Given the description of an element on the screen output the (x, y) to click on. 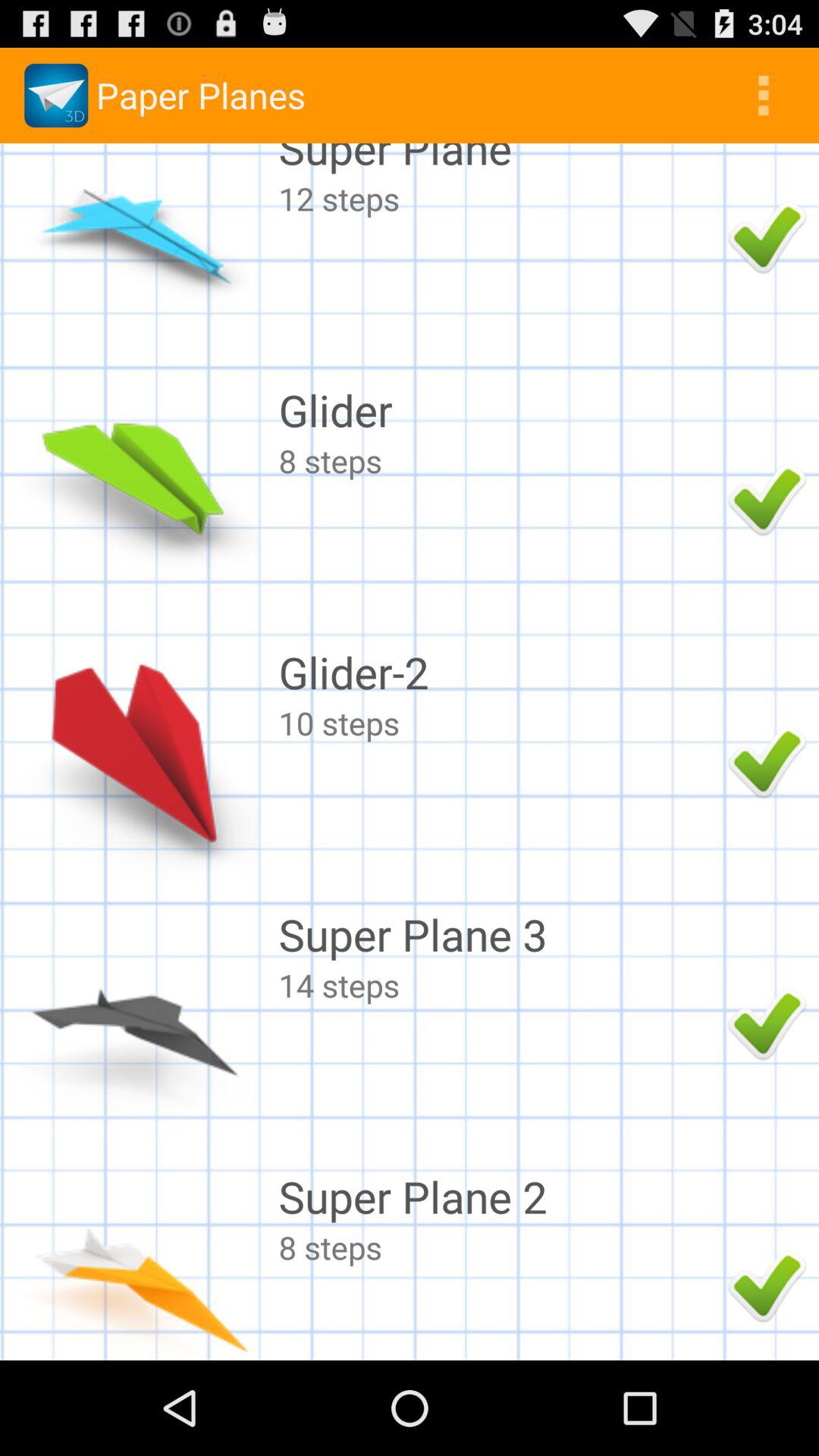
launch the icon above the glider icon (498, 198)
